Given the description of an element on the screen output the (x, y) to click on. 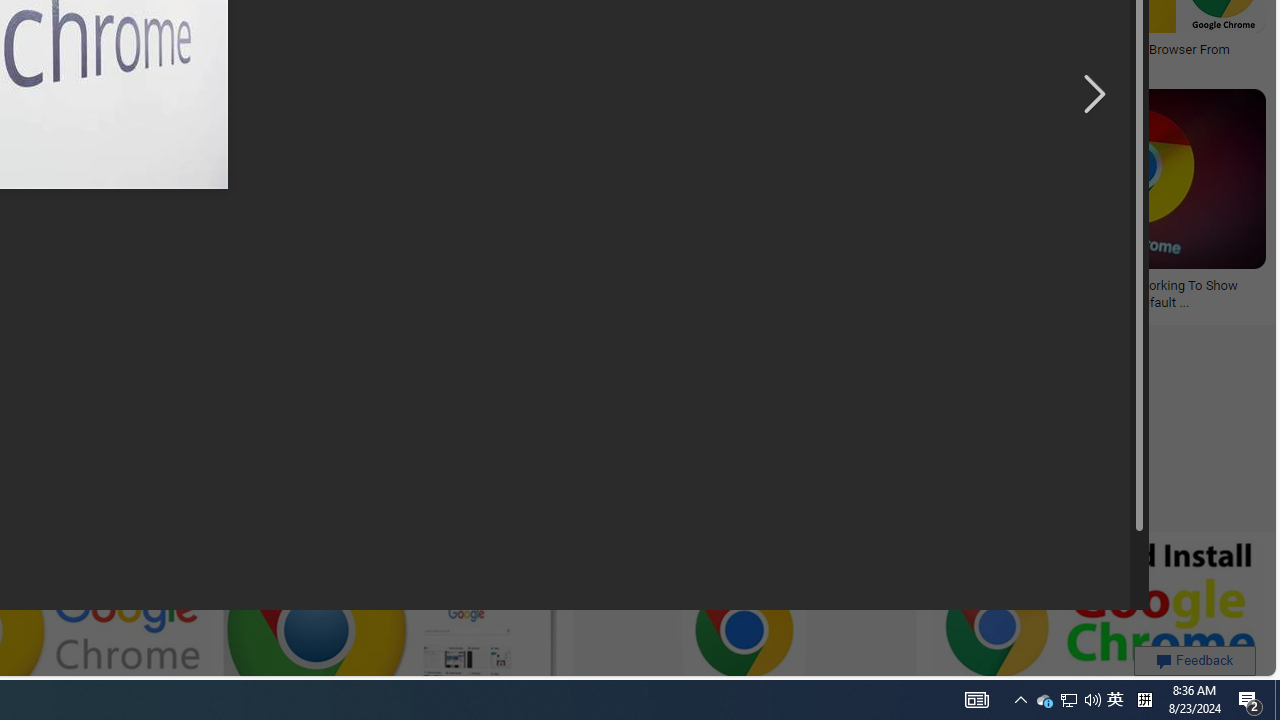
Image result for Google Chrome Internet Browser Download (1133, 179)
Google Chrome Review | Top Ten Reviews (660, 50)
What Is The Fastest Browser To Use With Windows 10 (540, 294)
Lambang ChromeSave (216, 202)
Chrome BrowserSave (841, 202)
Lambang Chrome (212, 286)
Chrome Browser (836, 286)
